Given the description of an element on the screen output the (x, y) to click on. 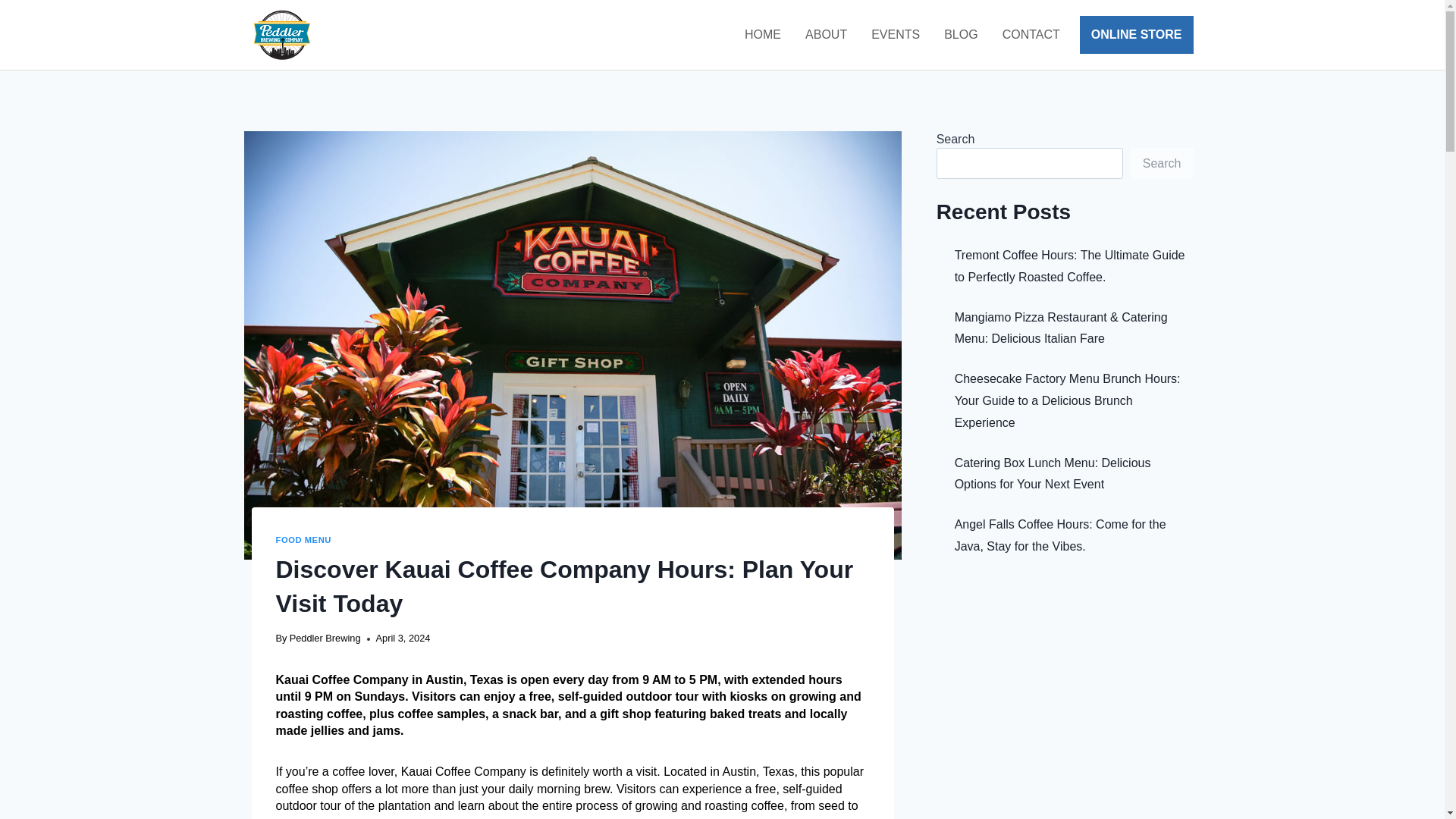
FOOD MENU (303, 539)
BLOG (960, 34)
CONTACT (1030, 34)
ONLINE STORE (1136, 34)
EVENTS (895, 34)
Peddler Brewing (325, 637)
HOME (762, 34)
ABOUT (826, 34)
